Given the description of an element on the screen output the (x, y) to click on. 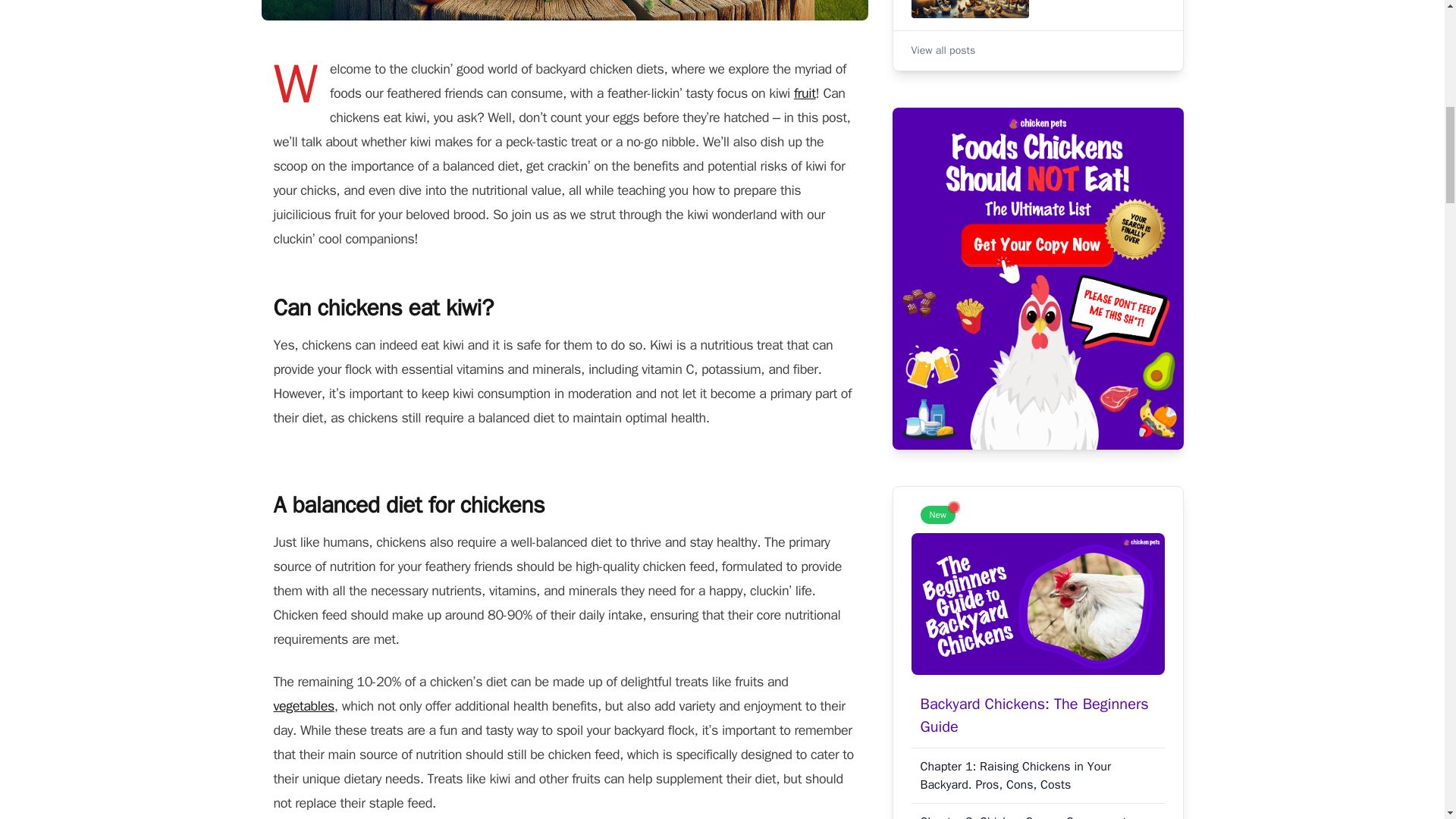
Low-feed-conversion Chicken Breeds (1037, 12)
fruit (804, 93)
vegetables (303, 705)
View all posts (943, 50)
Low-feed-conversion Chicken Breeds (1037, 12)
vegetables (303, 705)
fruit (804, 93)
